Given the description of an element on the screen output the (x, y) to click on. 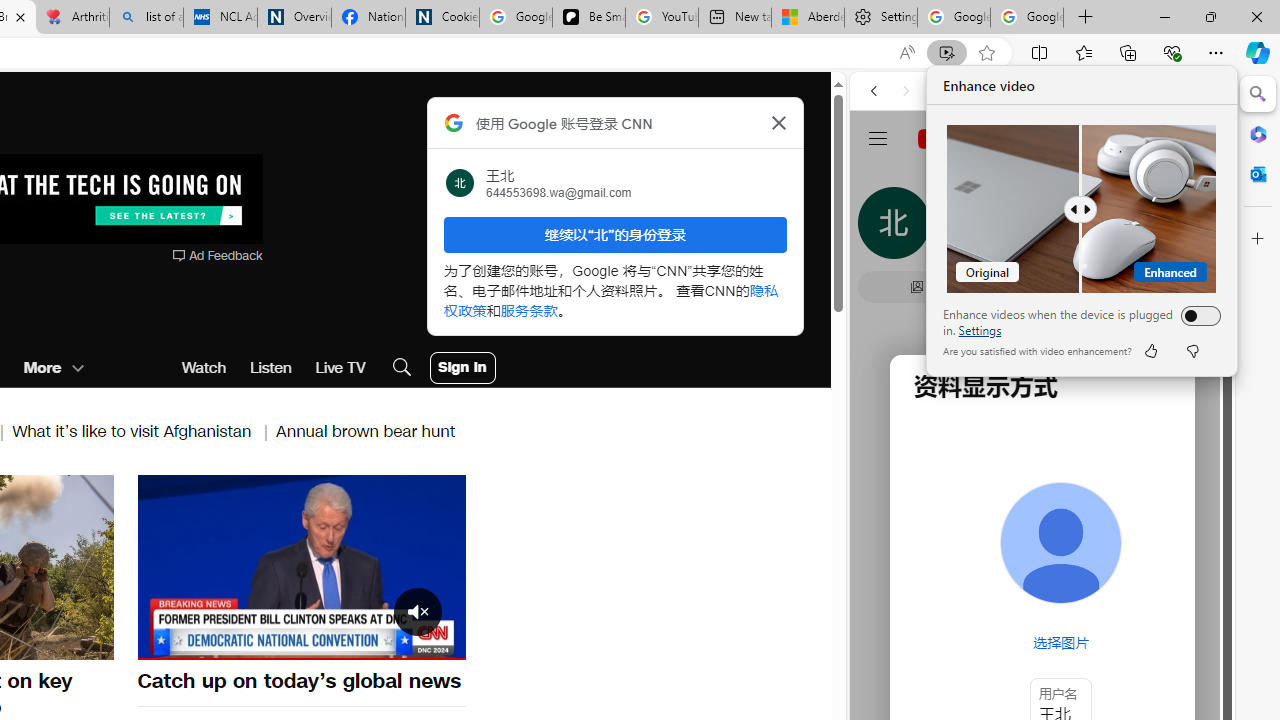
Backward 10 seconds (241, 566)
Unmute (164, 642)
